Given the description of an element on the screen output the (x, y) to click on. 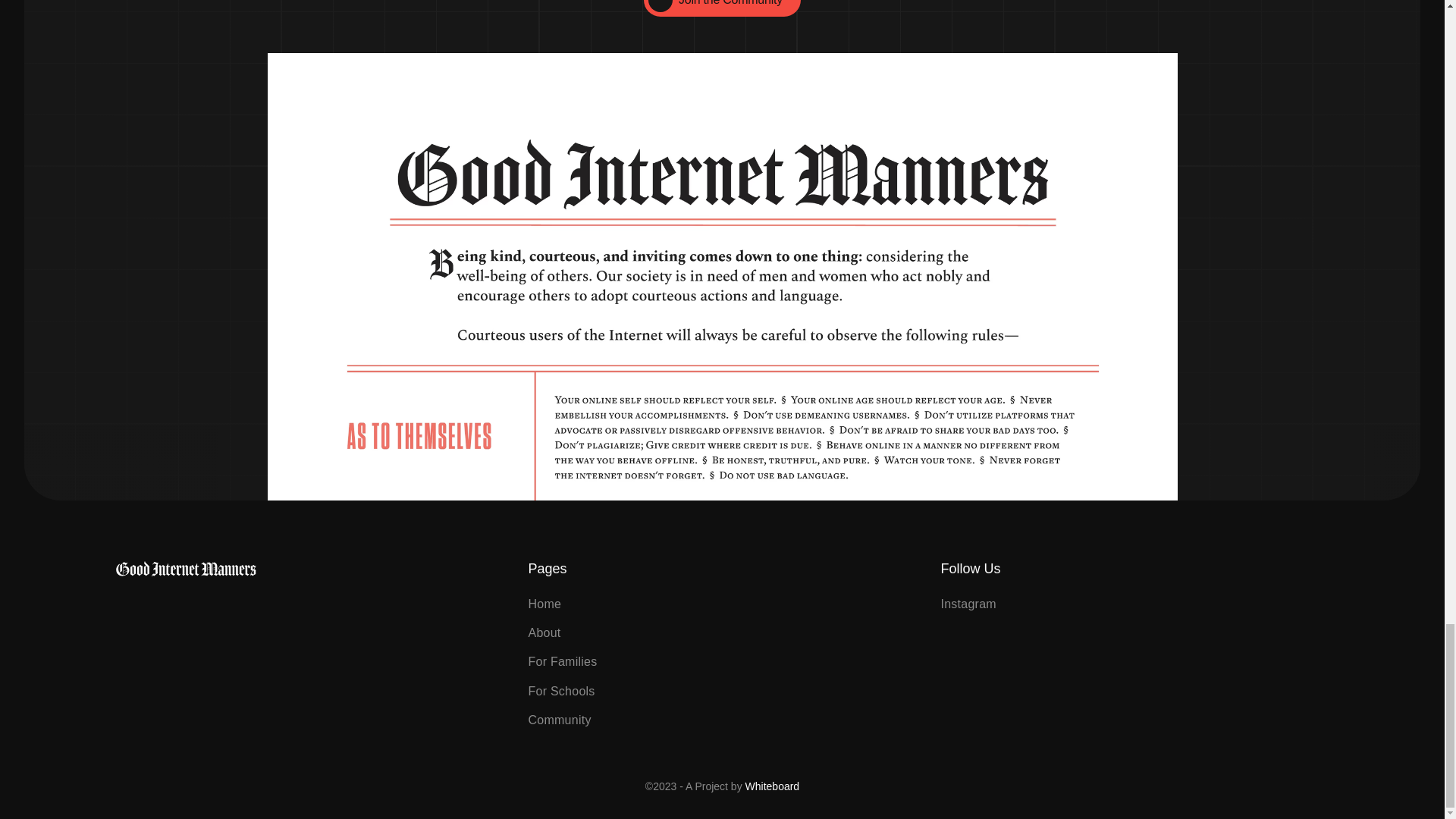
Join the Community (721, 8)
